Given the description of an element on the screen output the (x, y) to click on. 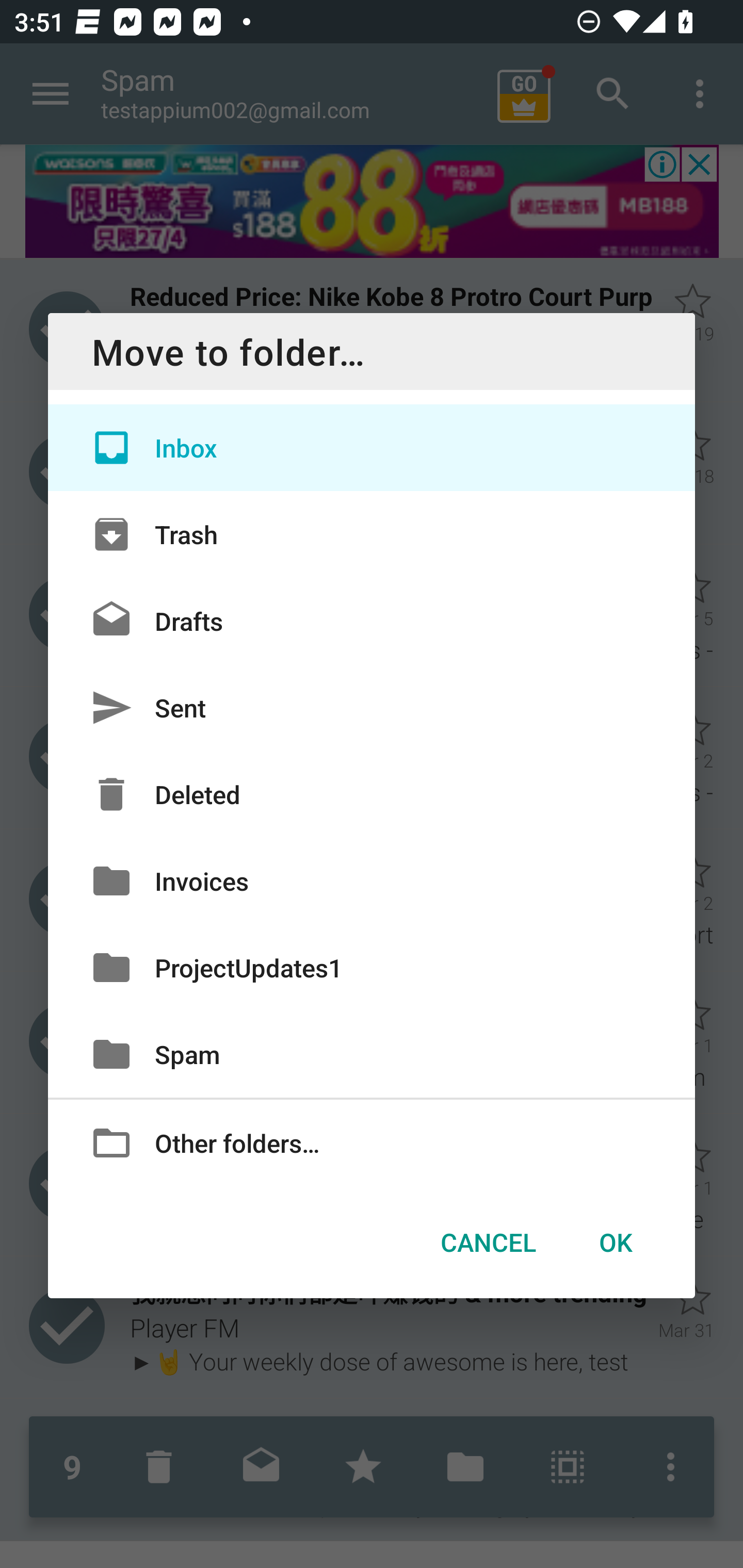
Inbox (371, 447)
Trash (371, 533)
Drafts (371, 620)
Sent (371, 707)
Deleted (371, 794)
Invoices (371, 880)
ProjectUpdates1 (371, 967)
Spam (371, 1054)
Other folders… (371, 1141)
CANCEL (488, 1241)
OK (615, 1241)
